Given the description of an element on the screen output the (x, y) to click on. 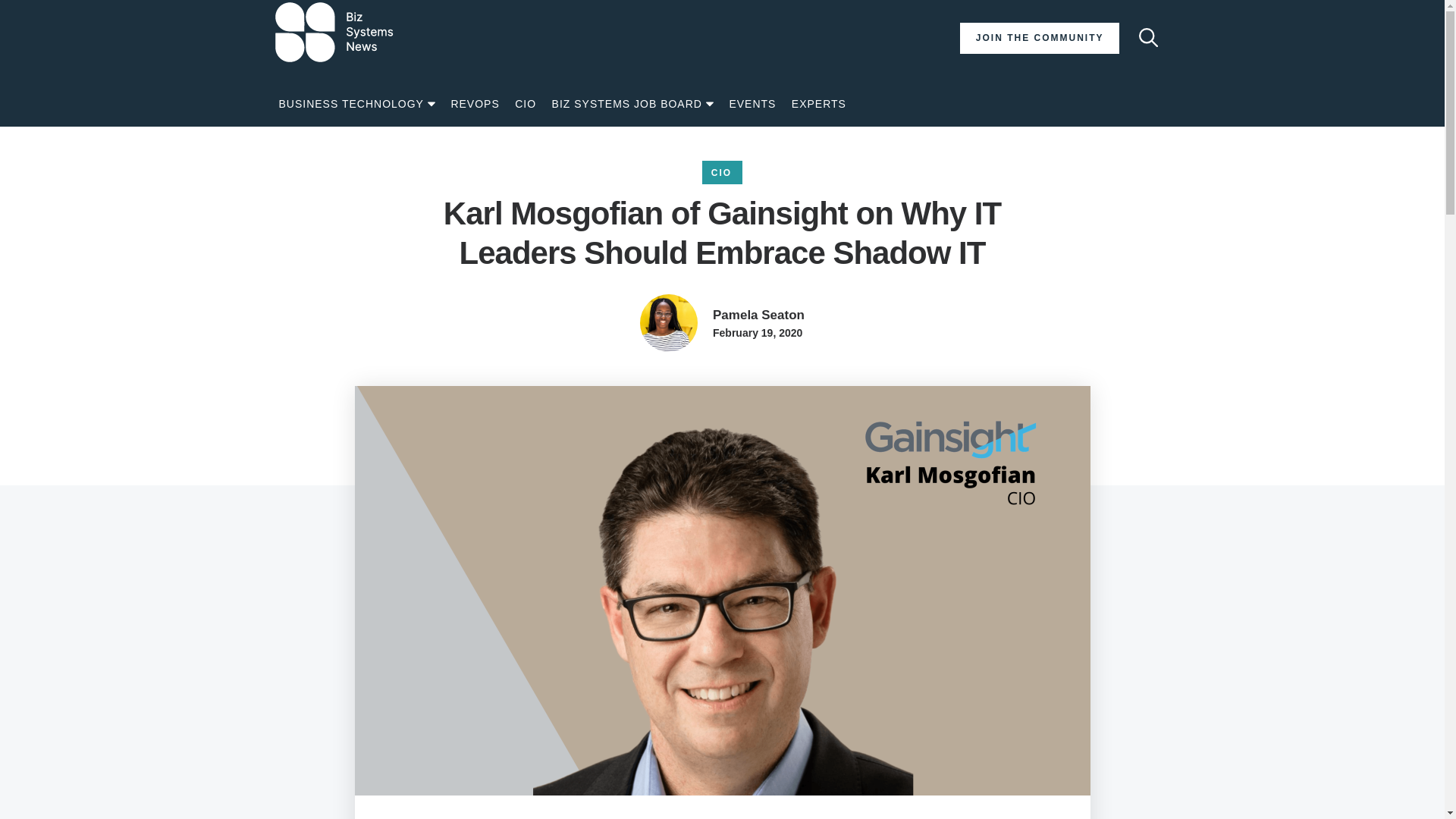
Submit (1142, 68)
EXPERTS (818, 104)
February 19, 2020 (757, 332)
CIO (525, 104)
Pamela Seaton (759, 314)
BUSINESS TECHNOLOGY (357, 104)
EVENTS (752, 104)
JOIN THE COMMUNITY (1039, 38)
BIZ SYSTEMS JOB BOARD (632, 104)
CIO (721, 172)
REVOPS (474, 104)
Search (1147, 37)
